Given the description of an element on the screen output the (x, y) to click on. 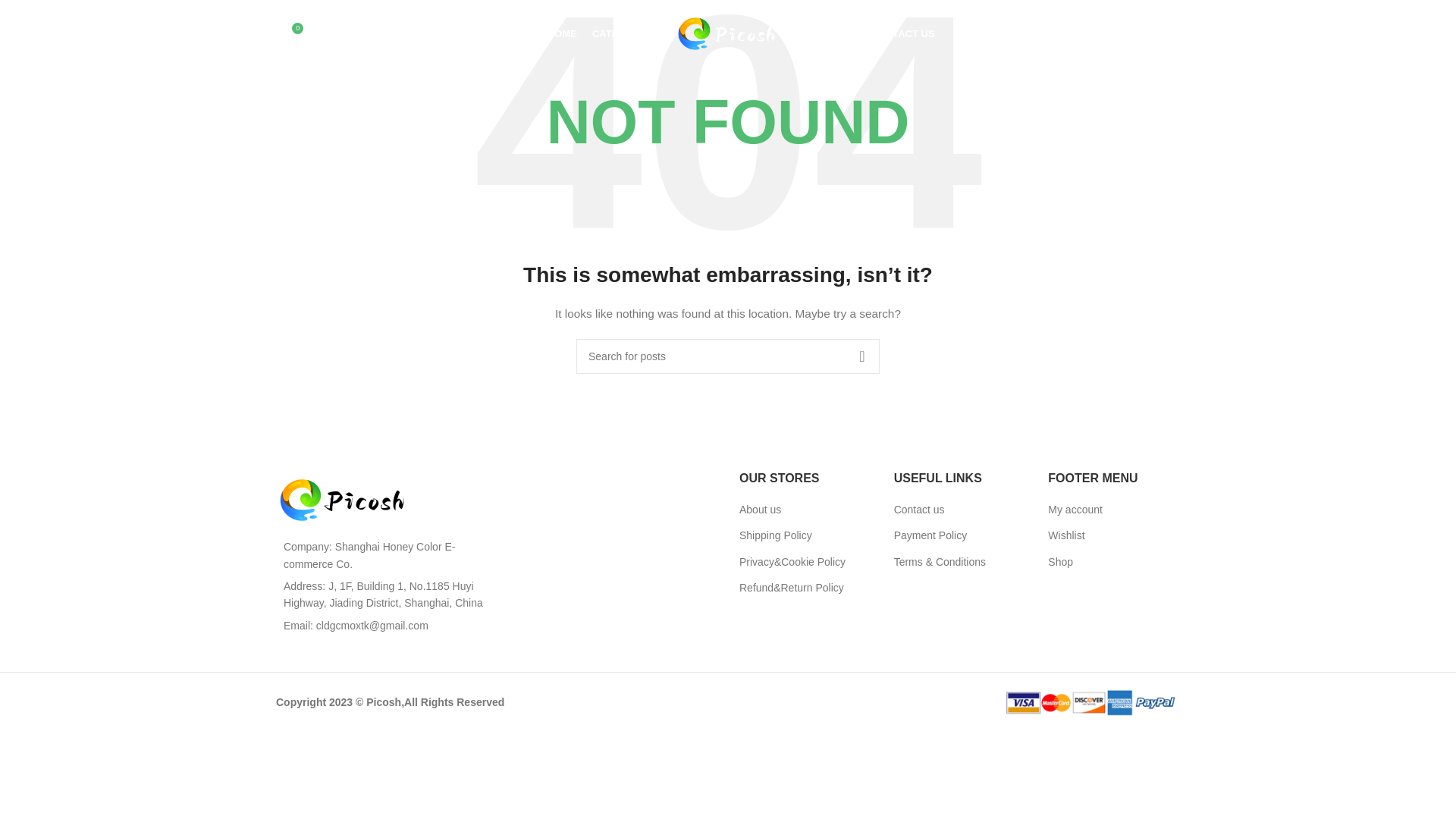
My account (1075, 509)
Shopping cart (1155, 33)
HOME (561, 33)
Payment Policy (930, 535)
CONTACT US (902, 33)
Shipping Policy (776, 535)
ABOUT US (829, 33)
picosh1 (344, 500)
Shop (1061, 562)
Wishlist (1067, 535)
SEARCH (861, 356)
Search for posts (727, 356)
Contact us (919, 509)
About us (761, 509)
CATEGORY (622, 33)
